Given the description of an element on the screen output the (x, y) to click on. 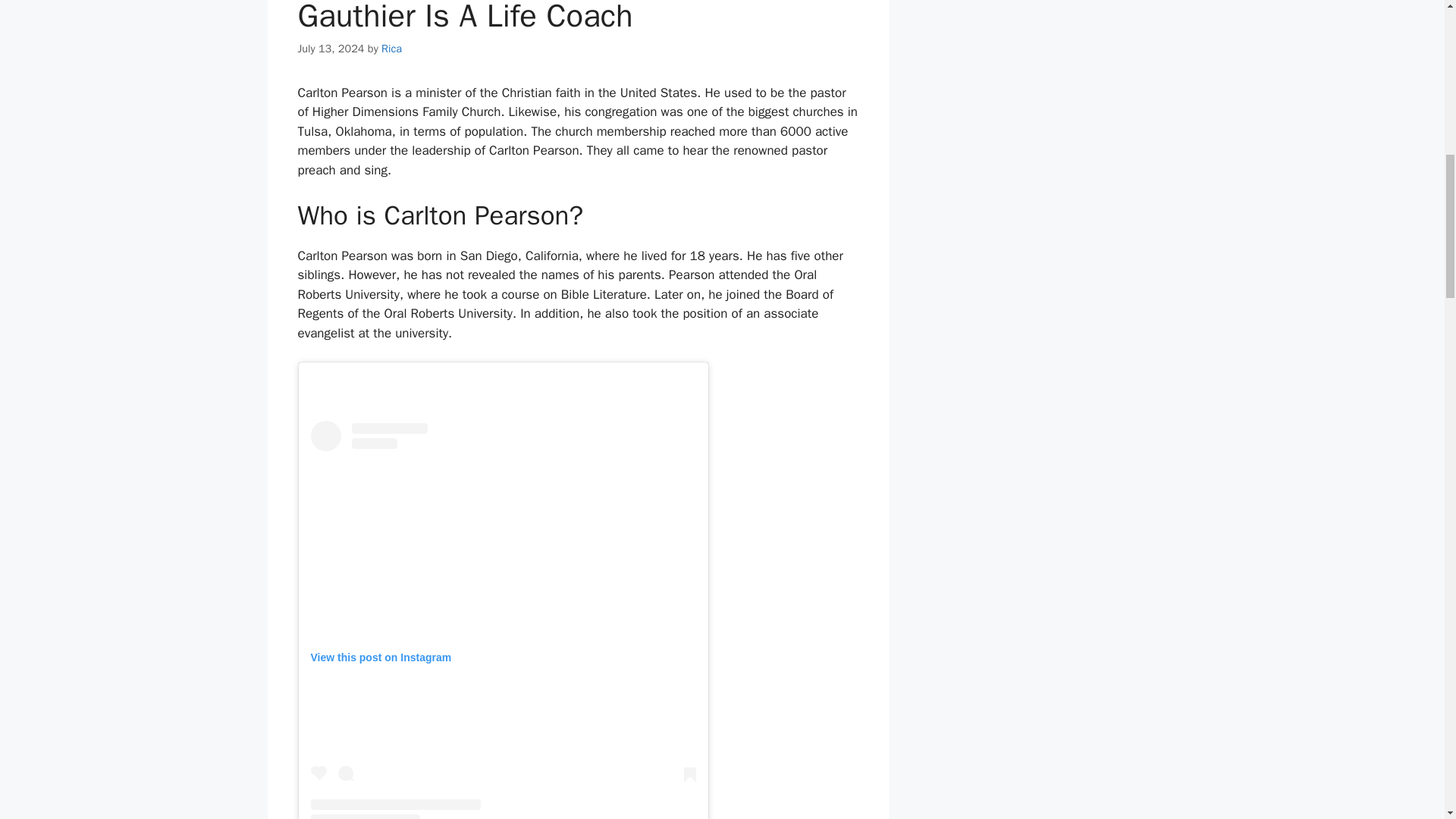
View all posts by Rica (391, 48)
Rica (391, 48)
